Given the description of an element on the screen output the (x, y) to click on. 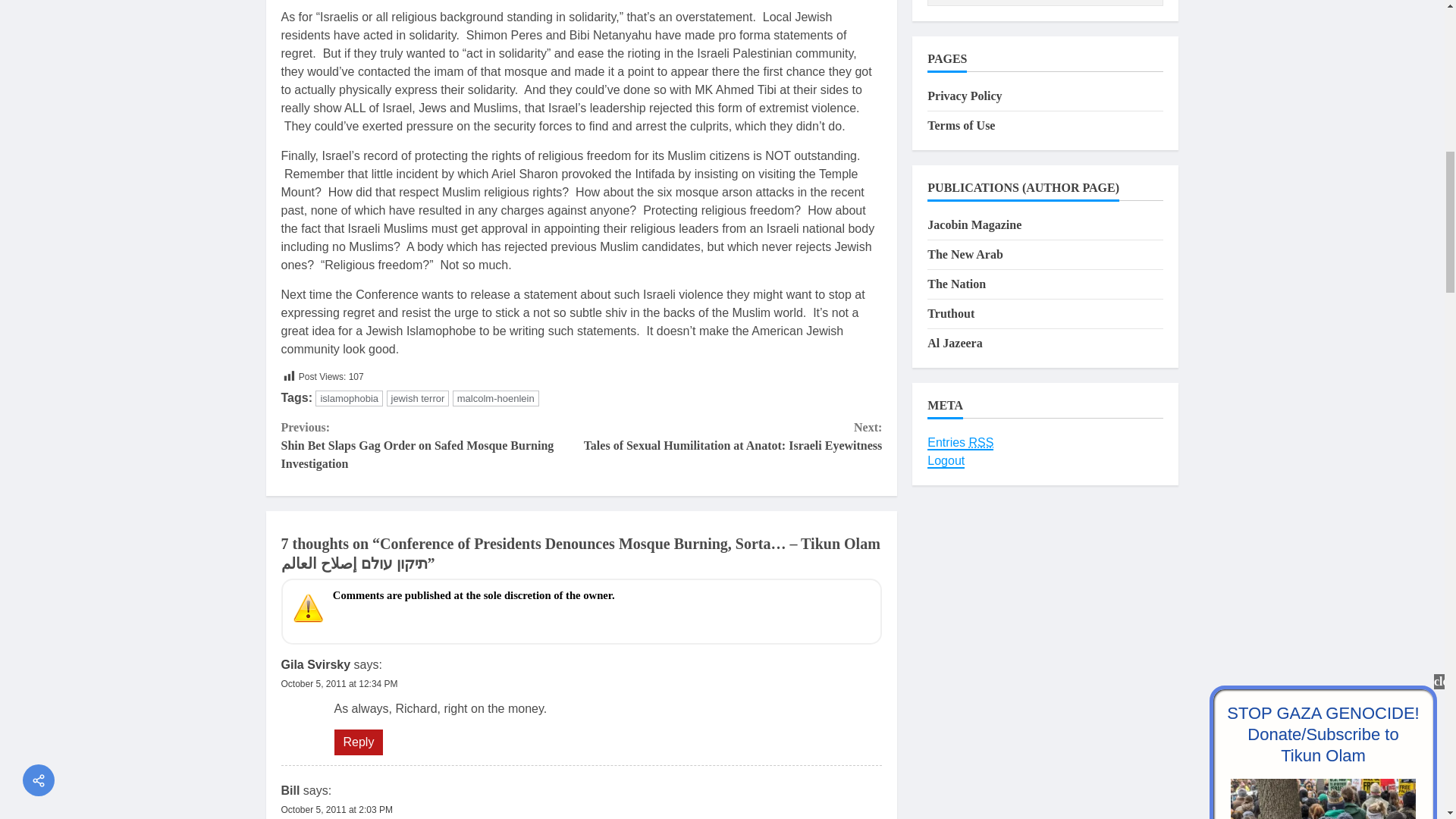
jewish terror (418, 398)
Gila Svirsky (315, 664)
October 5, 2011 at 12:34 PM (339, 683)
Reply (357, 742)
October 5, 2011 at 2:03 PM (336, 809)
malcolm-hoenlein (495, 398)
Really Simple Syndication (981, 442)
islamophobia (348, 398)
